Given the description of an element on the screen output the (x, y) to click on. 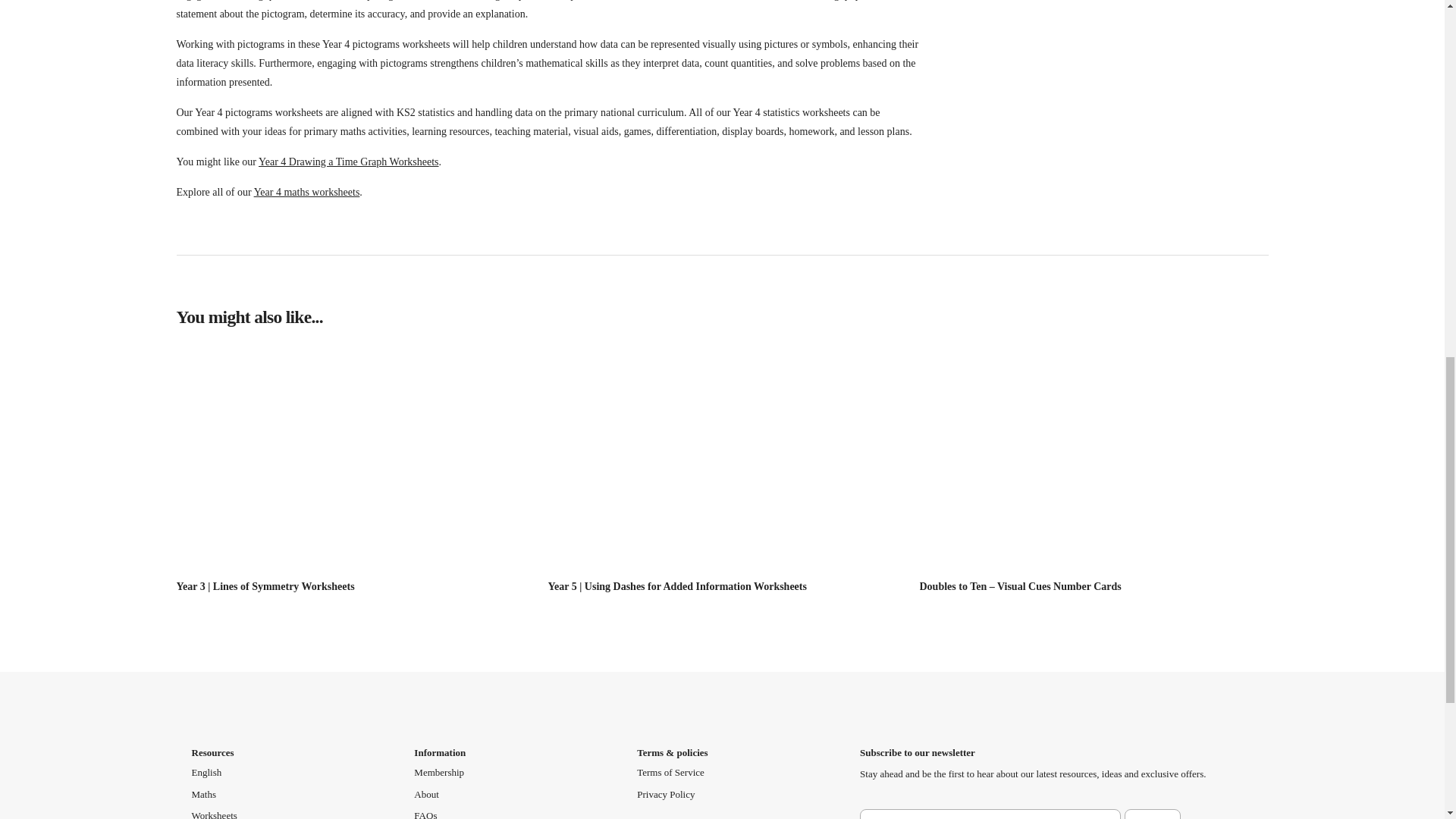
Maths (202, 794)
English (205, 772)
Year 4 Drawing a Time Graph Worksheets (349, 161)
Worksheets (212, 813)
Year 4 maths worksheets (306, 192)
